Given the description of an element on the screen output the (x, y) to click on. 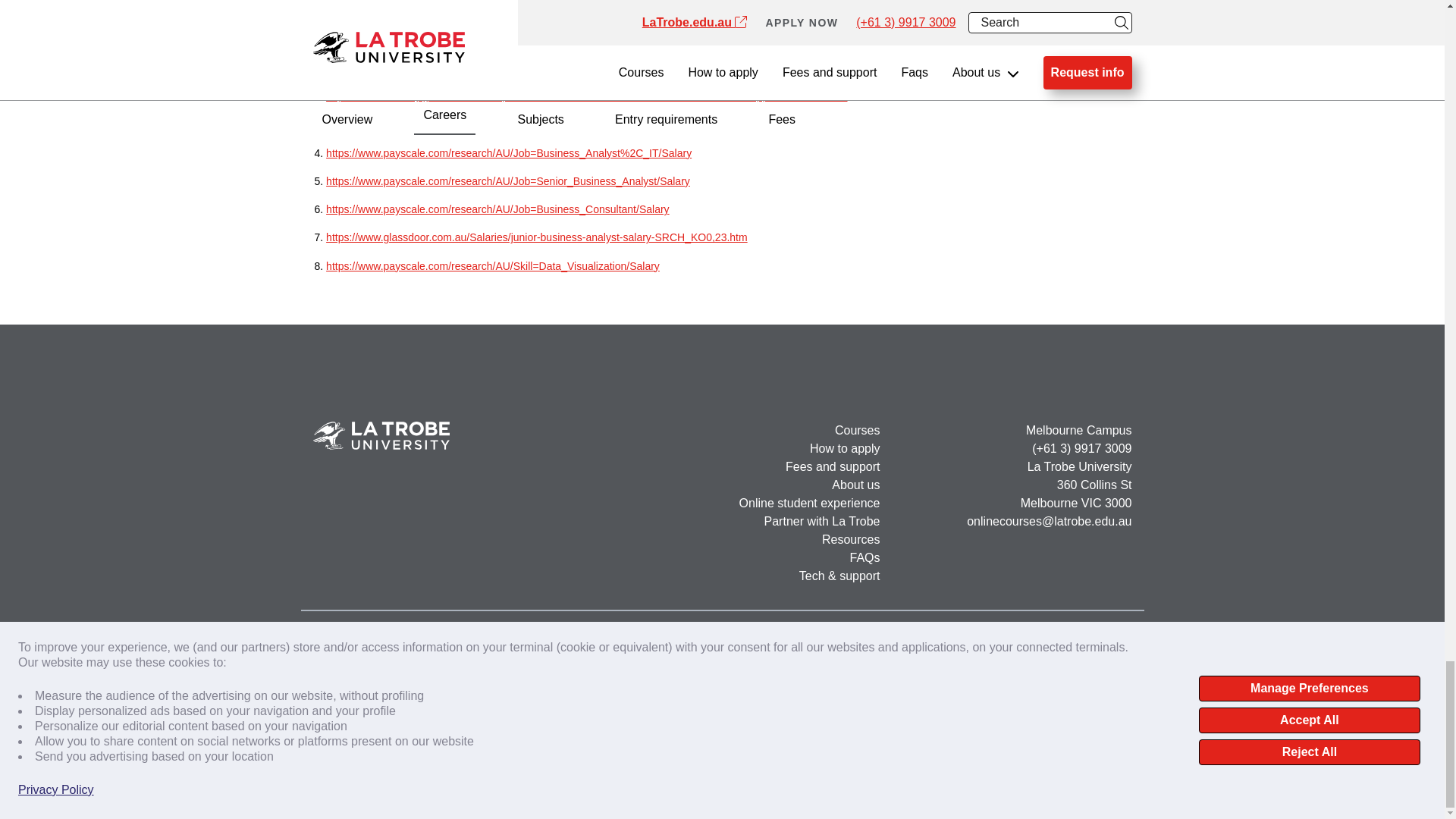
LaTrobeLogoWhite (380, 435)
